Given the description of an element on the screen output the (x, y) to click on. 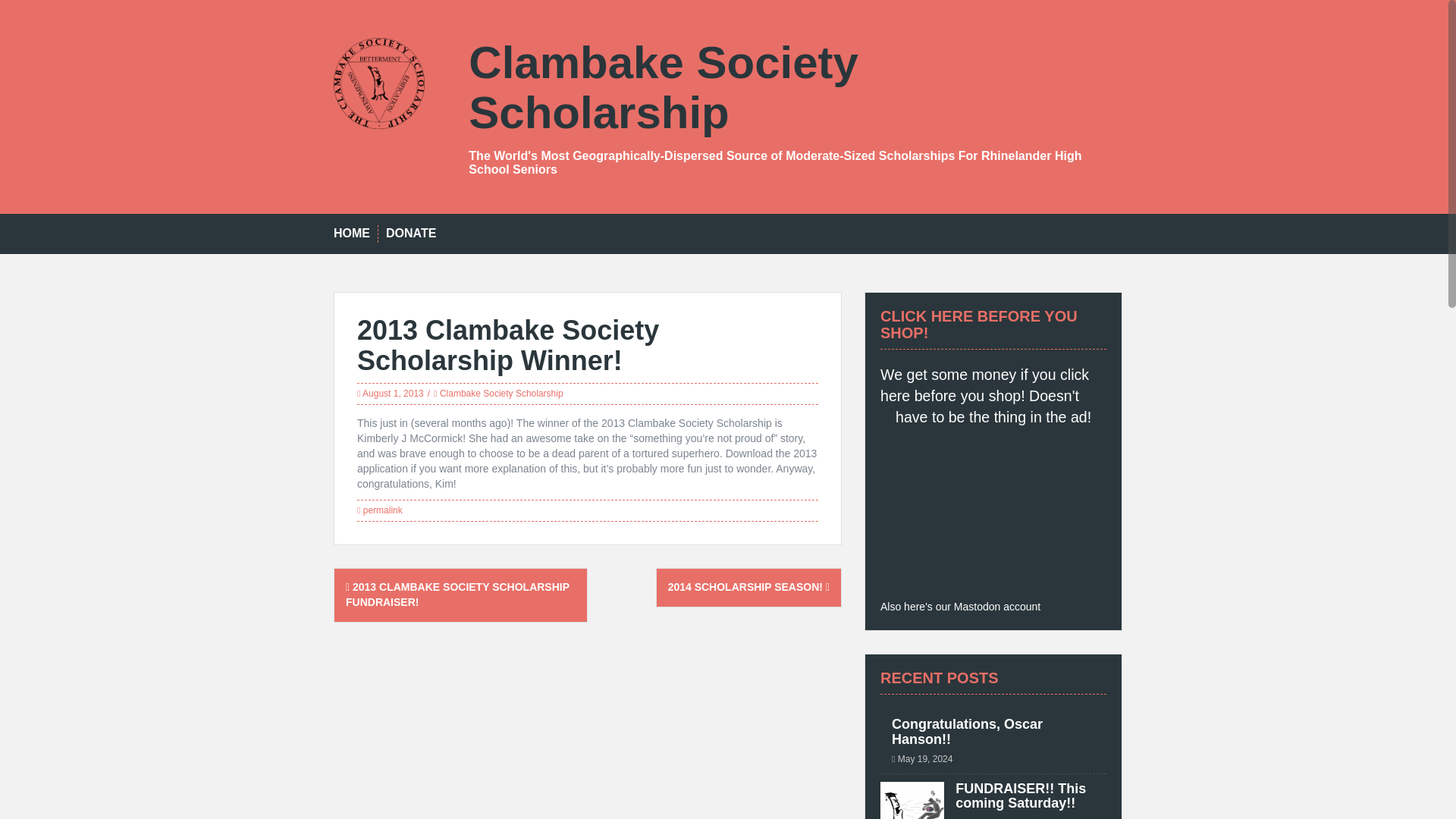
DONATE (410, 233)
Clambake Society Scholarship (663, 87)
August 1, 2013 (392, 393)
FUNDRAISER!! This coming Saturday!! (1020, 796)
Congratulations, Oscar Hanson!! (966, 731)
permalink (380, 510)
2013 CLAMBAKE SOCIETY SCHOLARSHIP FUNDRAISER! (457, 594)
Mastodon (976, 606)
HOME (351, 233)
Clambake Society Scholarship (501, 393)
Clambake Society Scholarship (379, 82)
2014 SCHOLARSHIP SEASON! (748, 586)
